Given the description of an element on the screen output the (x, y) to click on. 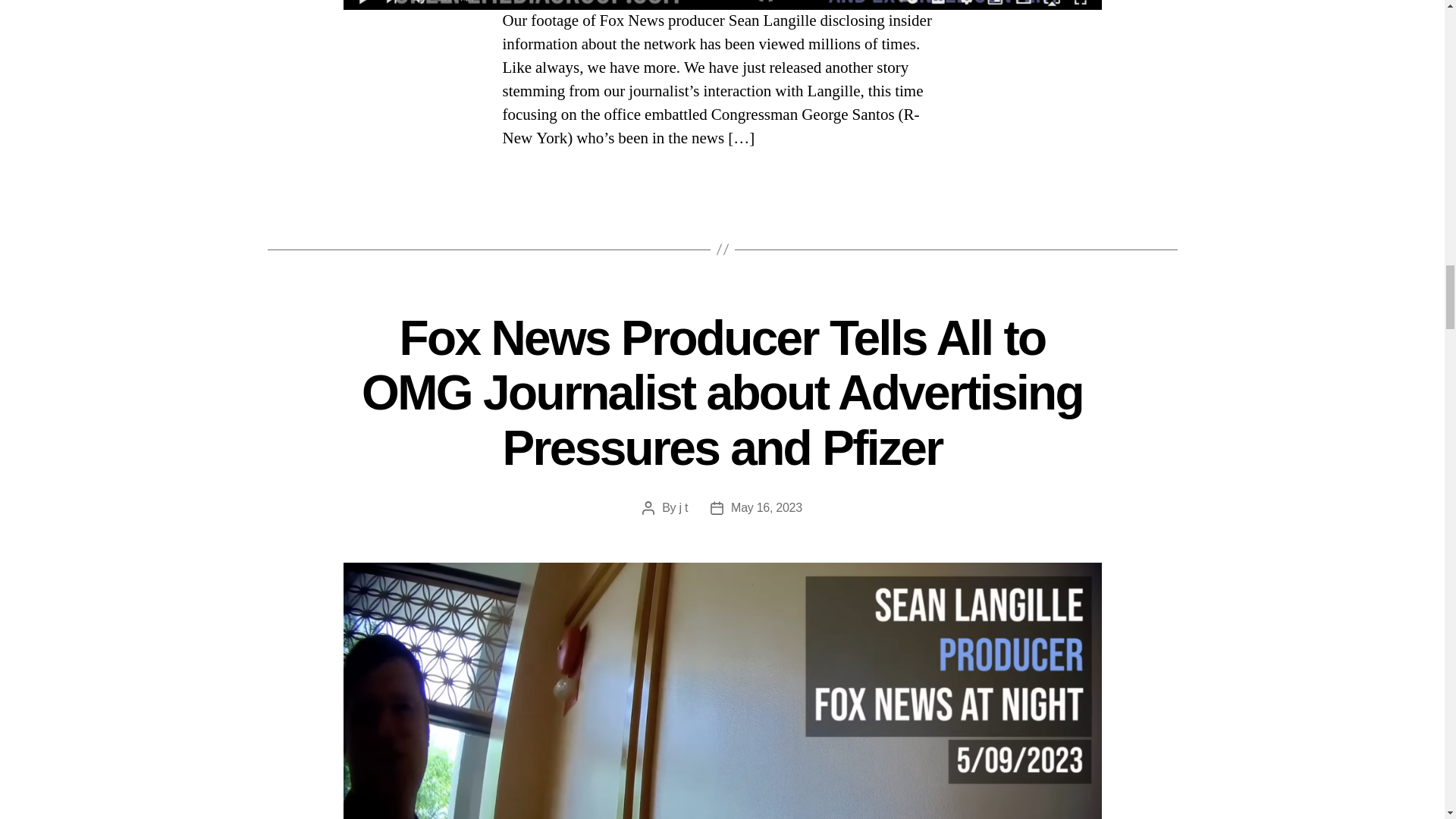
May 16, 2023 (766, 507)
